Given the description of an element on the screen output the (x, y) to click on. 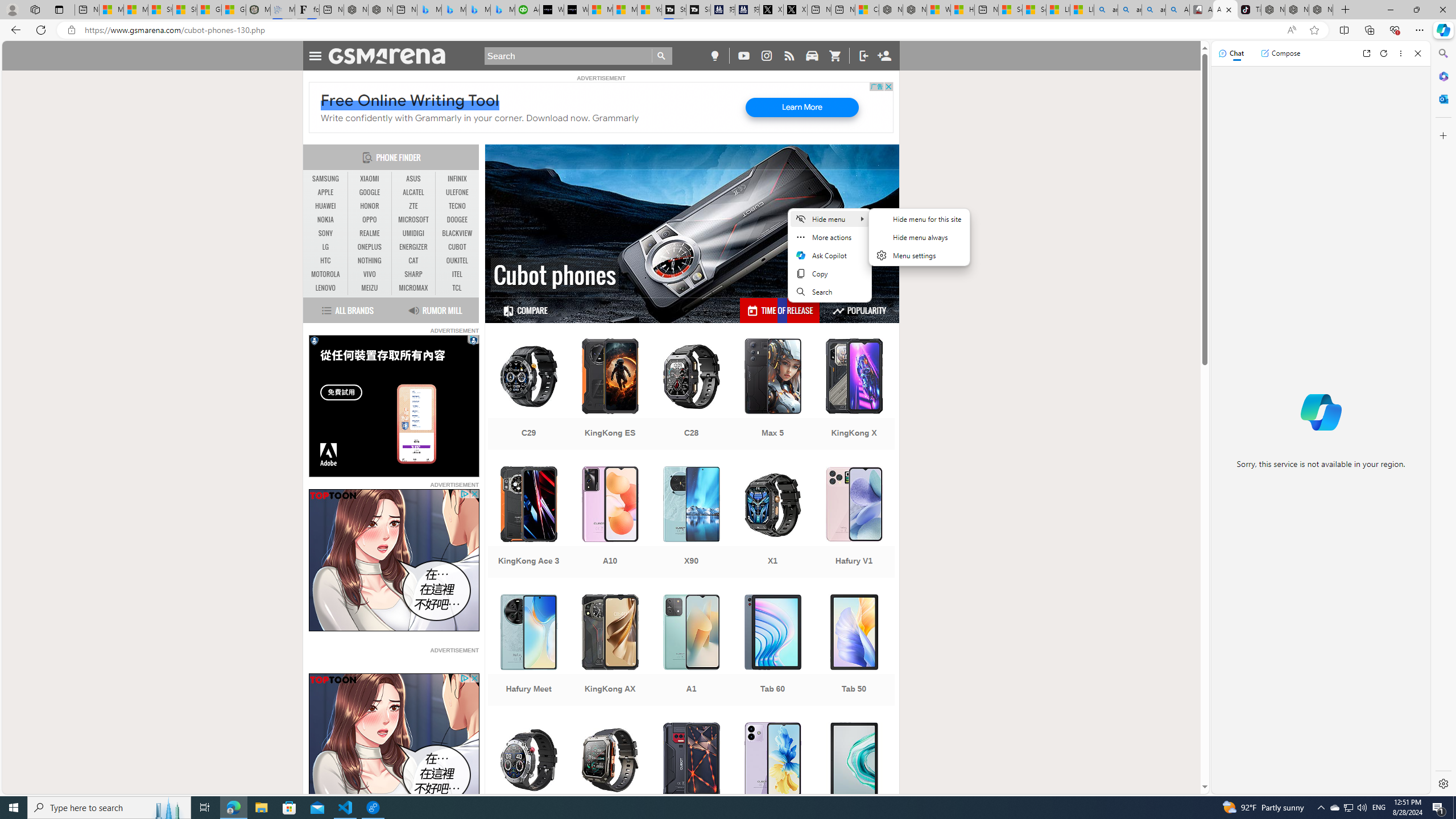
Privacy Notification (314, 340)
More actions (828, 236)
ULEFONE (457, 192)
Microsoft 365 (1442, 76)
CAT (413, 260)
Side bar (1443, 418)
To get missing image descriptions, open the context menu. (393, 744)
